Given the description of an element on the screen output the (x, y) to click on. 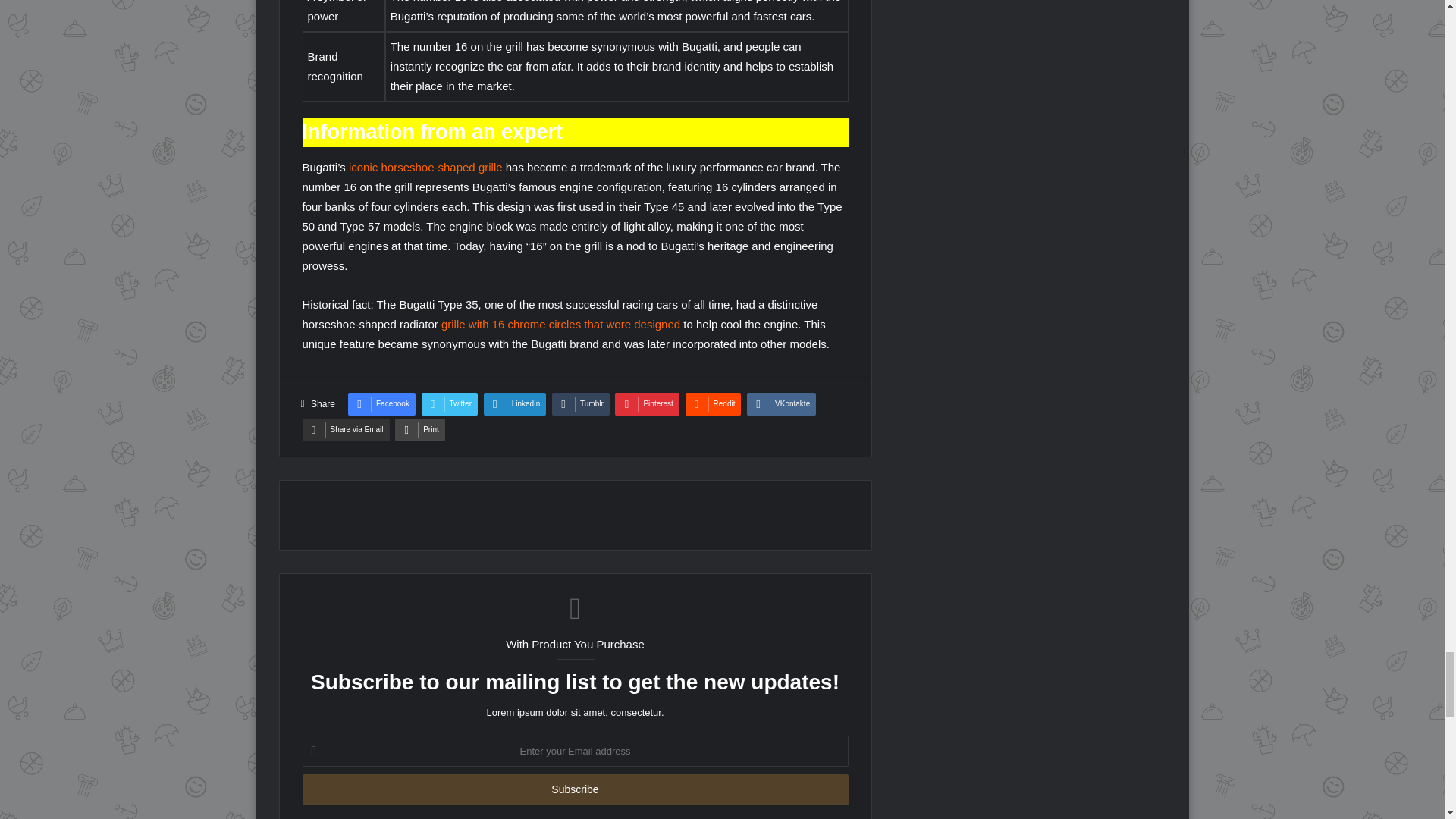
iconic horseshoe-shaped grille (425, 166)
Subscribe (574, 789)
grille with 16 chrome circles that were designed (560, 323)
